Given the description of an element on the screen output the (x, y) to click on. 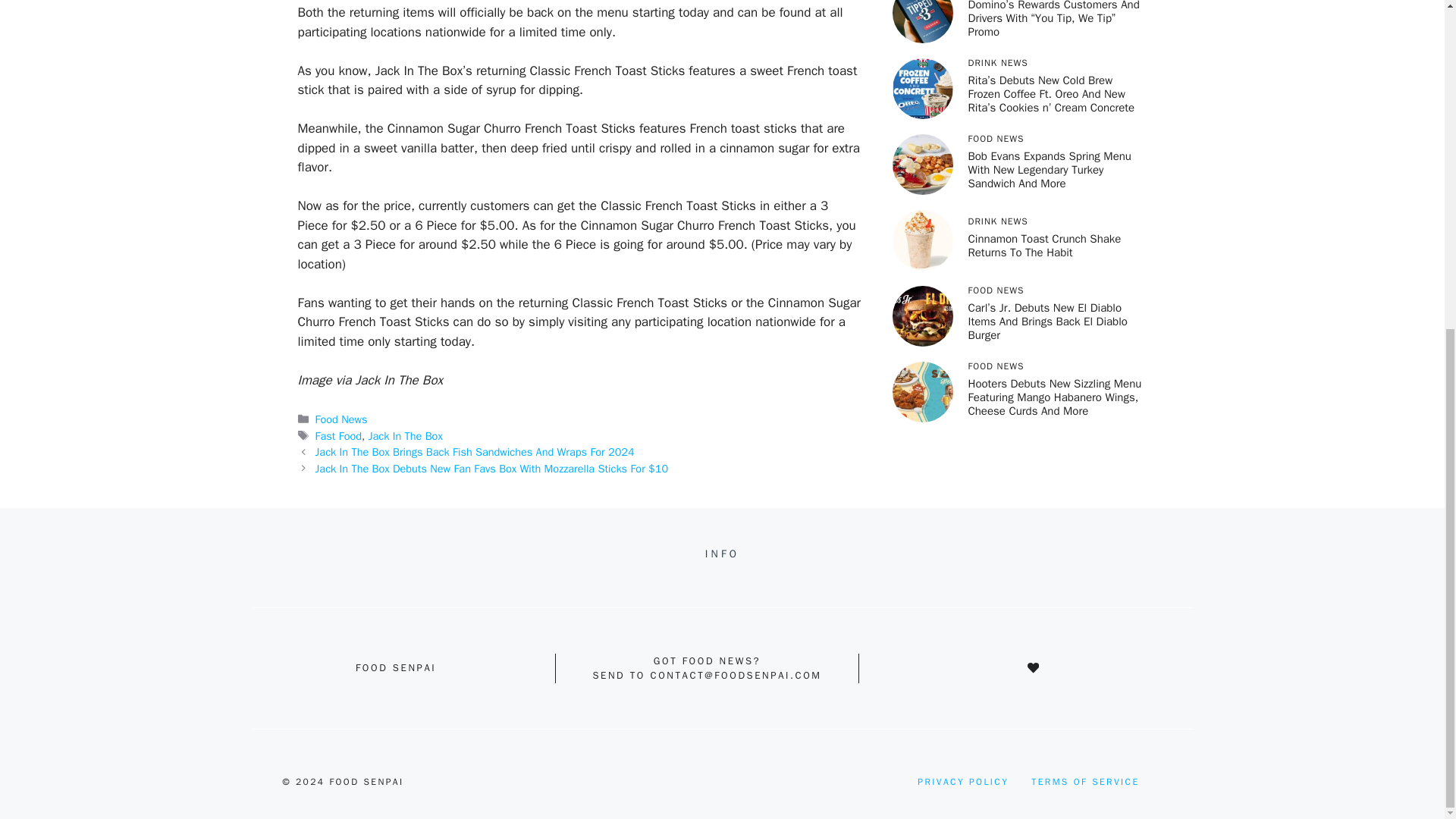
Cinnamon Toast Crunch Shake Returns To The Habit (1044, 245)
Fast Food (338, 436)
Jack In The Box (405, 436)
PRIVACY POLICY (963, 781)
Food News (341, 418)
TERMS OF SERVICE (1084, 781)
